Given the description of an element on the screen output the (x, y) to click on. 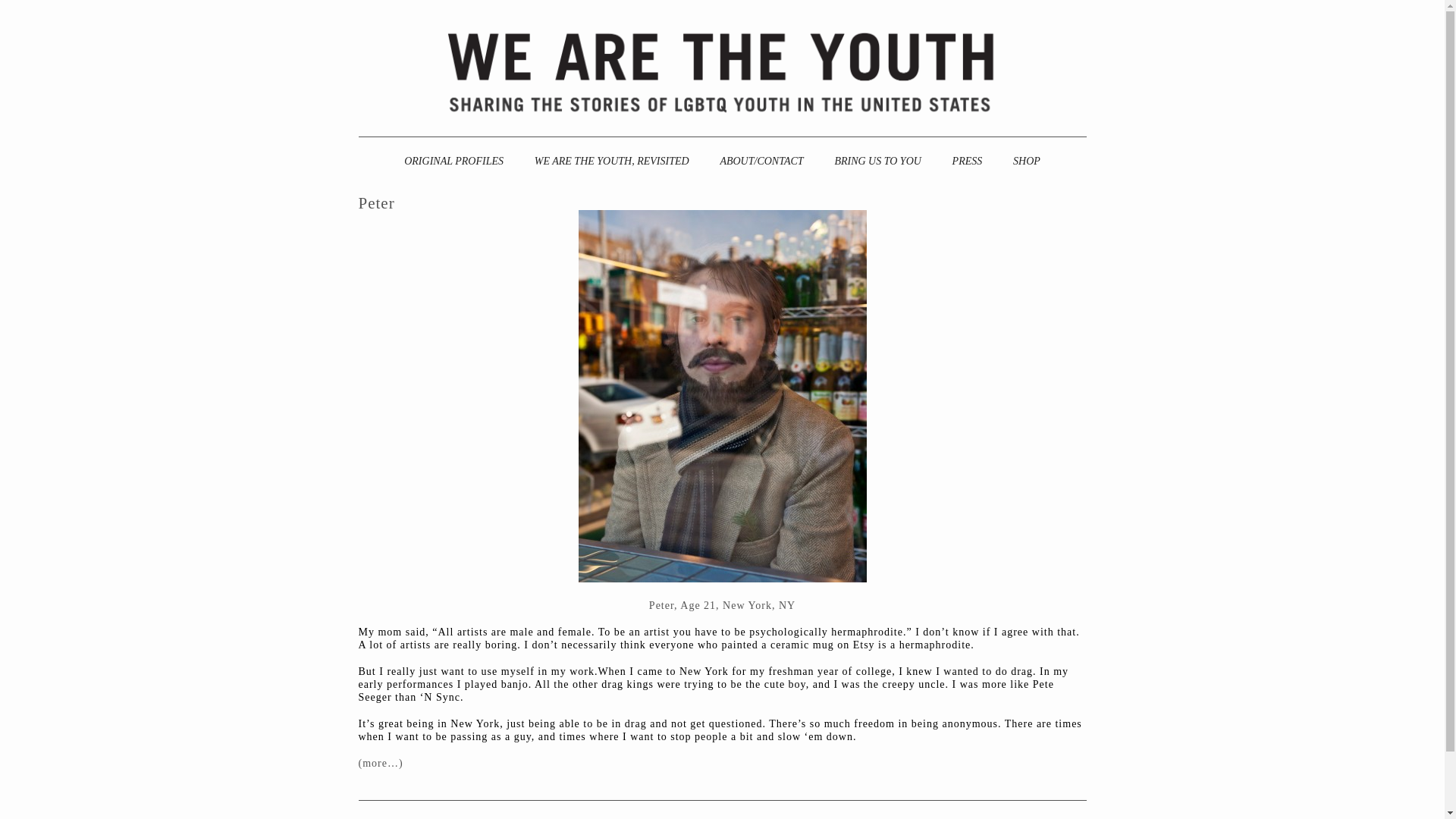
WE ARE THE YOUTH, REVISITED (612, 161)
ORIGINAL PROFILES (453, 161)
BRING US TO YOU (877, 161)
PRESS (967, 161)
SHOP (1026, 161)
Peter (376, 203)
We Are the Youth (721, 71)
Peter, Age 21, New York, NY (721, 604)
